Given the description of an element on the screen output the (x, y) to click on. 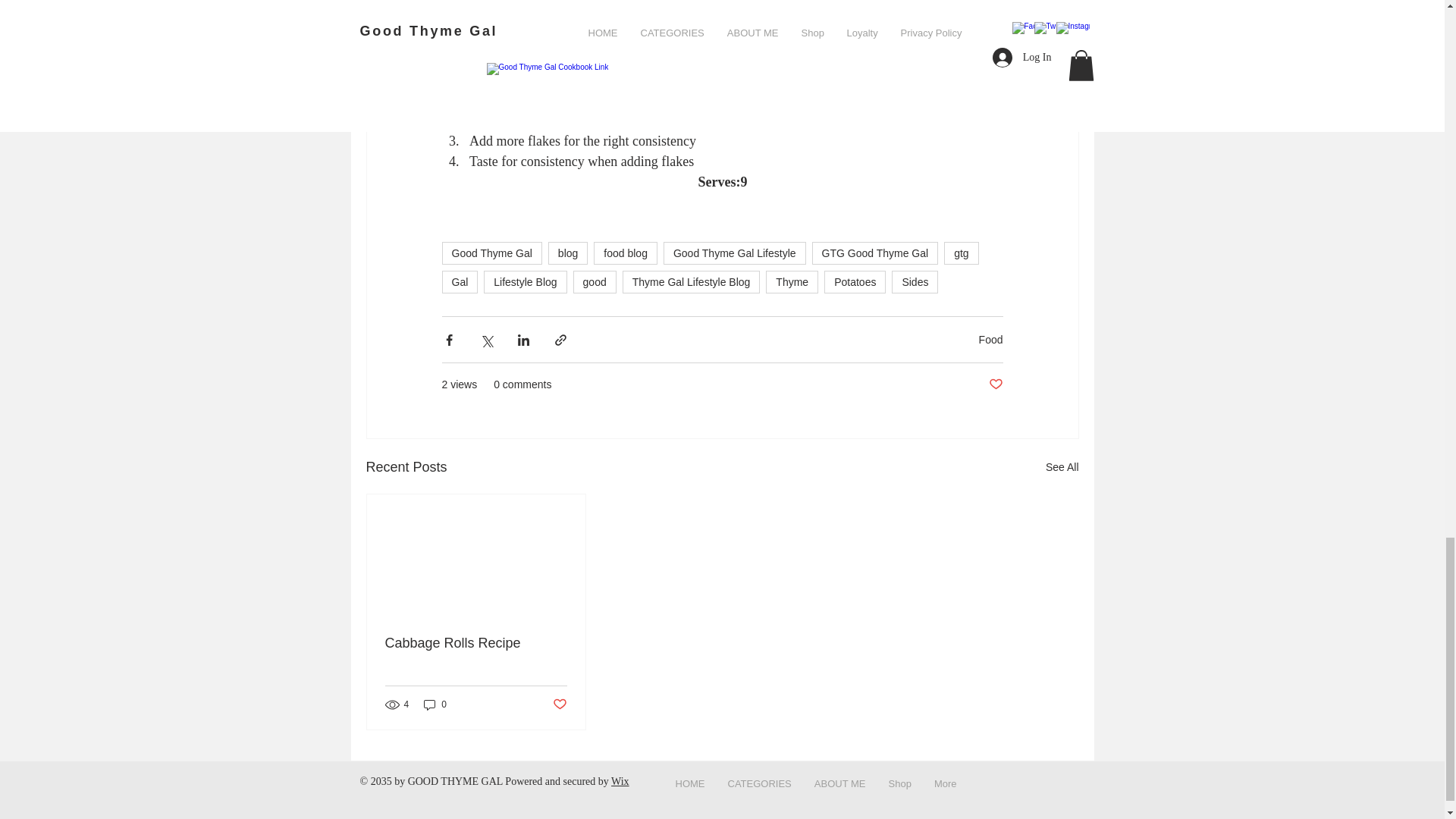
Potatoes (854, 282)
food blog (626, 252)
Sides (914, 282)
Good Thyme Gal (491, 252)
good (594, 282)
Good Thyme Gal Lifestyle (734, 252)
Thyme Gal Lifestyle Blog (691, 282)
Thyme (791, 282)
gtg (960, 252)
Lifestyle Blog (524, 282)
